Given the description of an element on the screen output the (x, y) to click on. 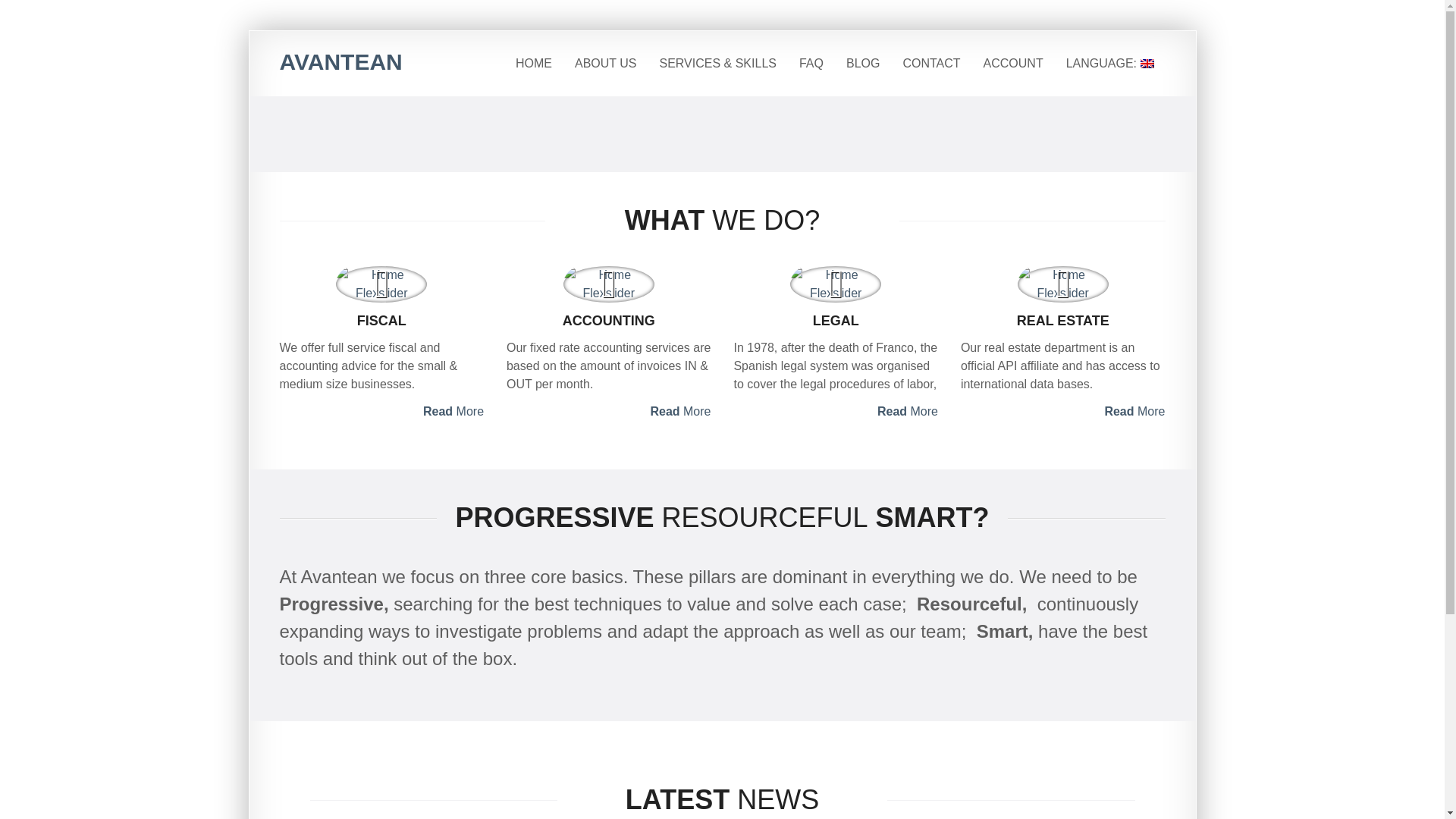
FISCAL (381, 321)
HOME (533, 63)
FAQ (810, 63)
LANGUAGE:  (1110, 63)
Read More (608, 411)
ACCOUNTING (608, 321)
ACCOUNT (1013, 63)
English (1110, 63)
Read More (1063, 411)
AVANTEAN (340, 60)
Read More (381, 411)
Read More (835, 411)
BLOG (862, 63)
ABOUT US (605, 63)
REAL ESTATE (1063, 321)
